Given the description of an element on the screen output the (x, y) to click on. 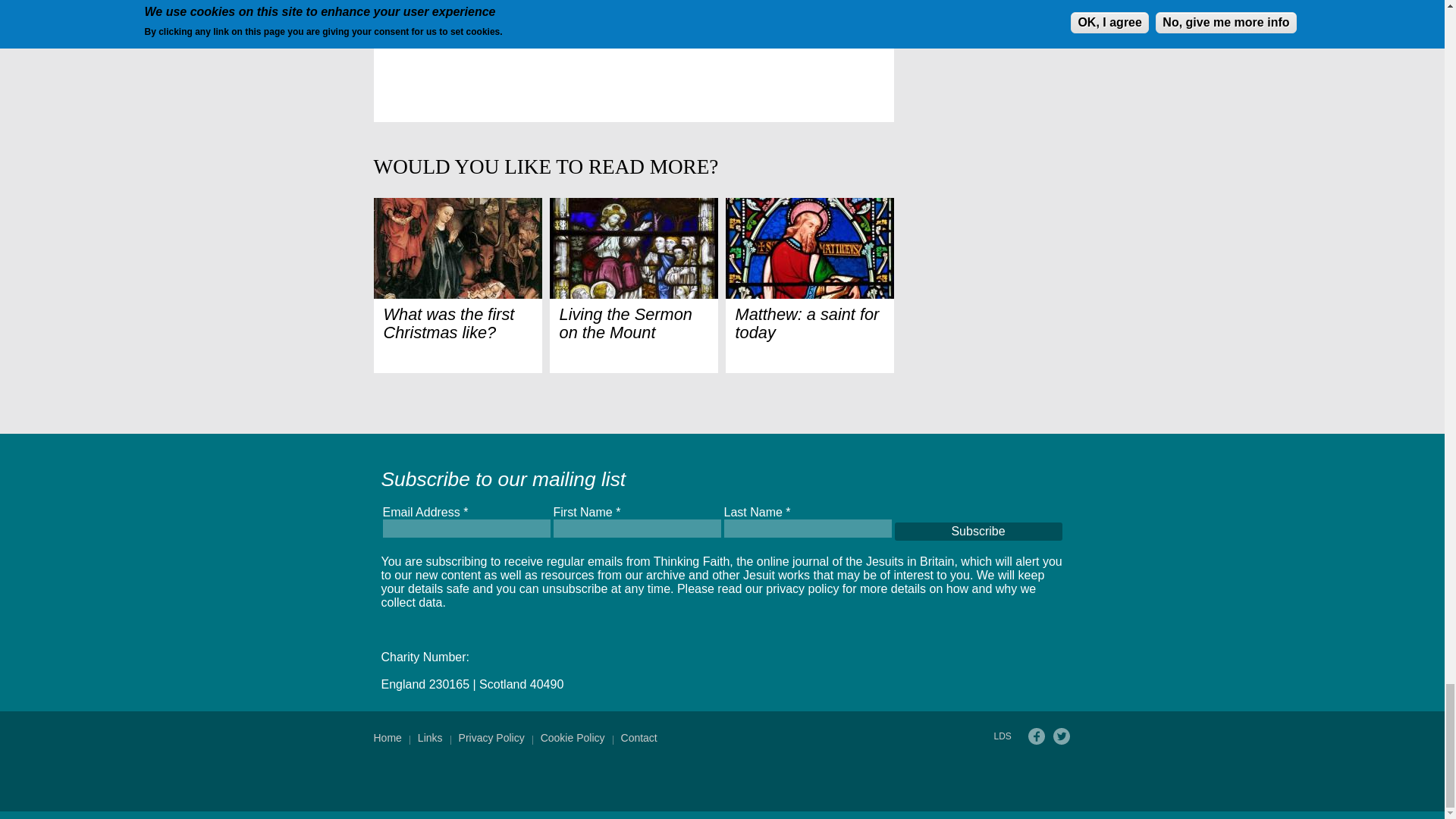
Subscribe (978, 531)
